Given the description of an element on the screen output the (x, y) to click on. 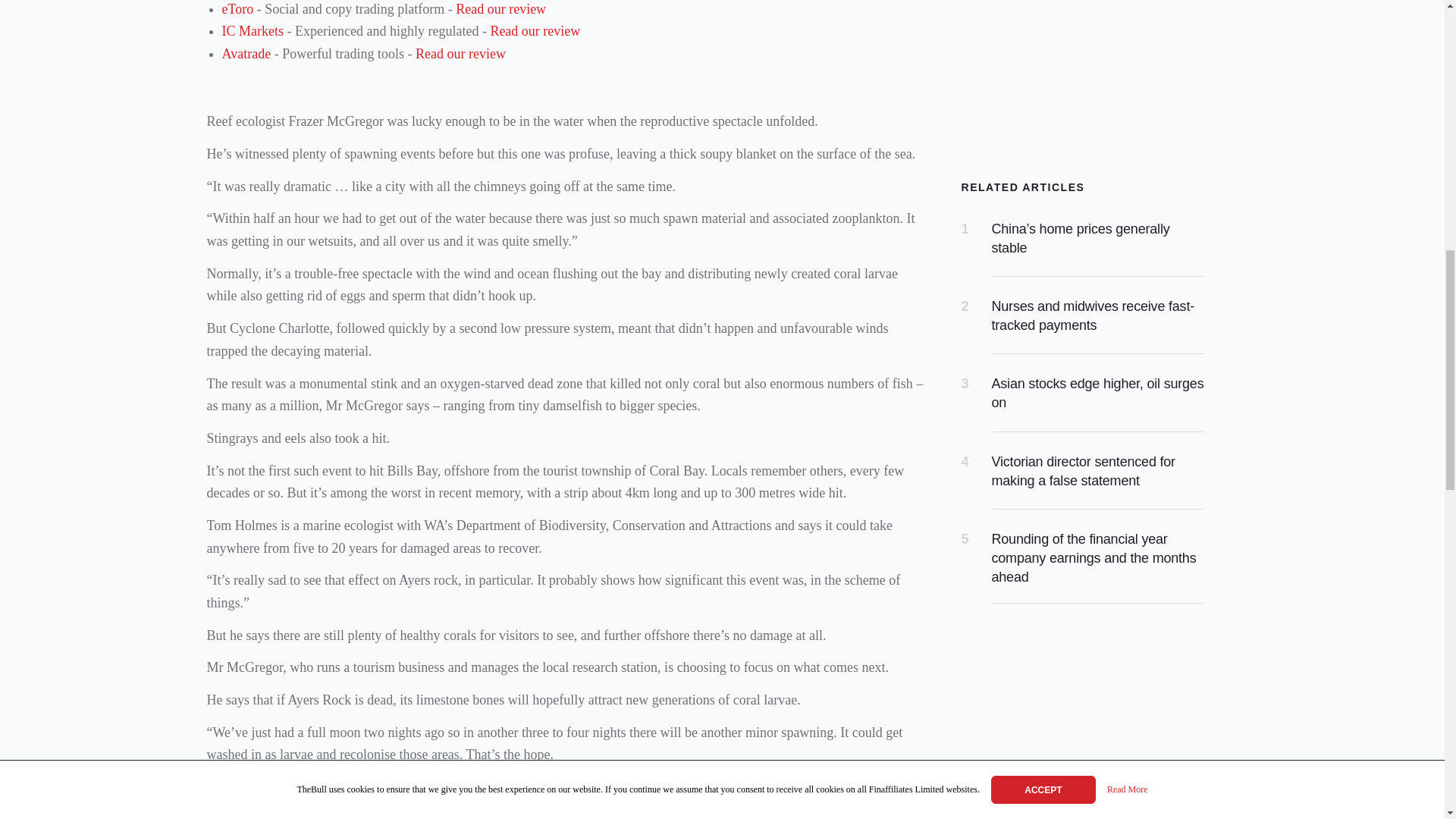
eToro (237, 8)
IC Markets (251, 30)
Victorian director sentenced for making a false statement (1082, 471)
Read our review (500, 8)
Nurses and midwives receive fast-tracked payments (1093, 315)
Nurses and midwives receive fast-tracked payments (1093, 315)
Asian stocks edge higher, oil surges on (1097, 392)
Victorian director sentenced for making a false statement (1082, 471)
